Given the description of an element on the screen output the (x, y) to click on. 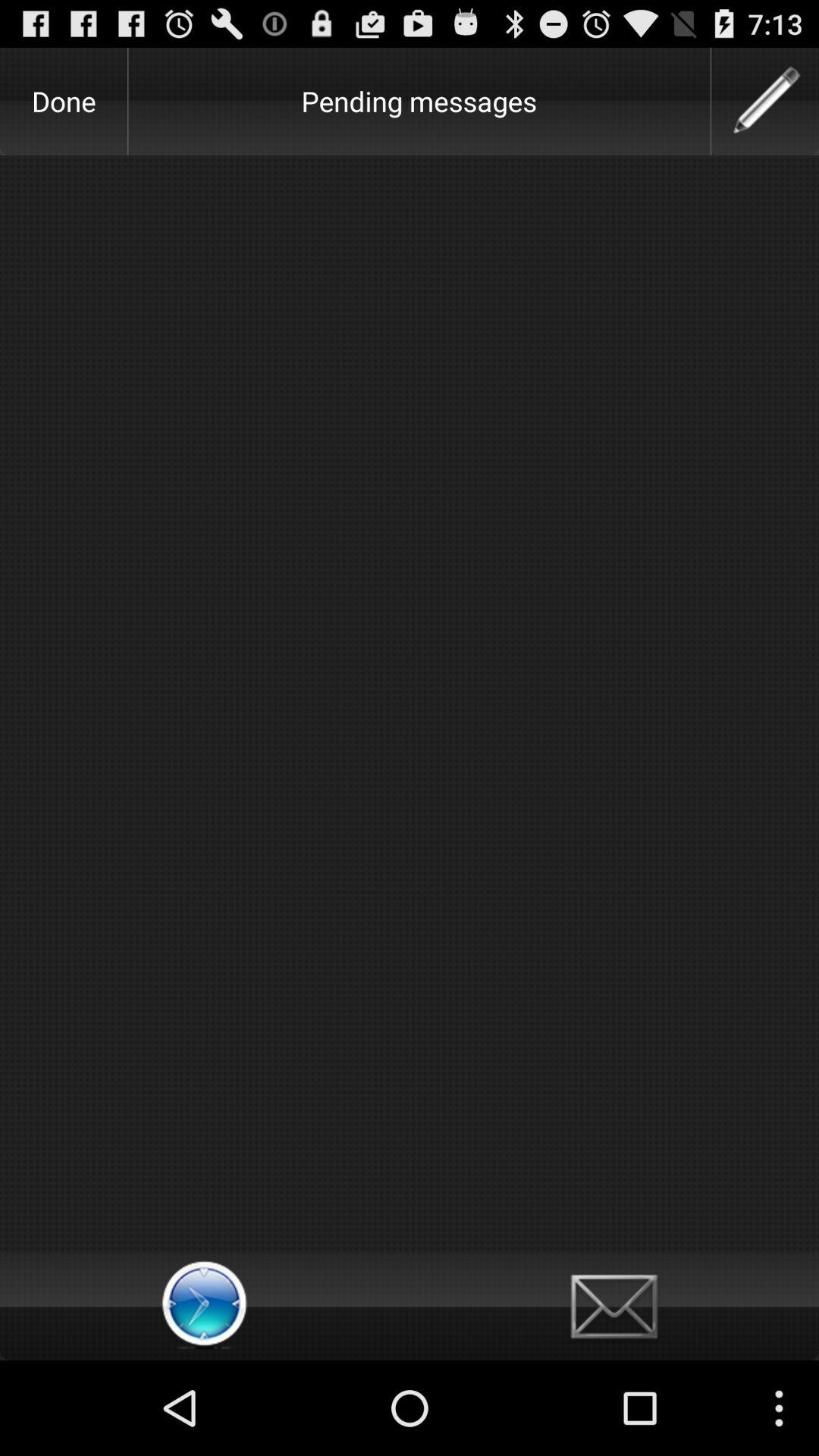
turn on the item at the center (409, 703)
